Given the description of an element on the screen output the (x, y) to click on. 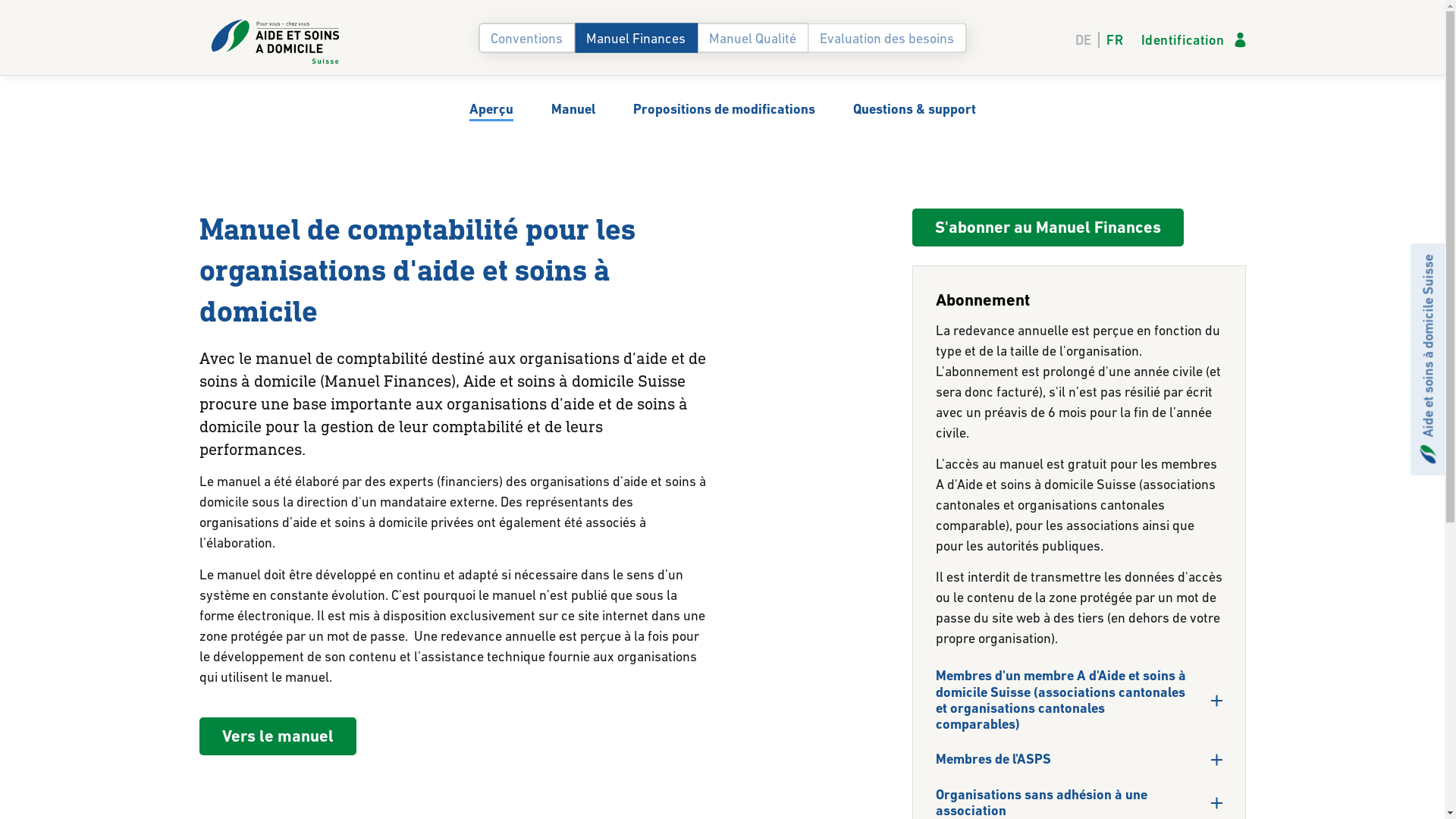
Evaluation des besoins Element type: text (886, 37)
S'abonner au Manuel Finances Element type: text (1047, 227)
Identification Element type: text (1193, 39)
DE Element type: text (1087, 39)
Questions & support Element type: text (913, 108)
Vers le manuel Element type: text (276, 736)
FR Element type: text (1111, 39)
Manuel Element type: text (572, 108)
Propositions de modifications Element type: text (723, 108)
Conventions Element type: text (526, 37)
Manuel Finances Element type: text (635, 37)
